Given the description of an element on the screen output the (x, y) to click on. 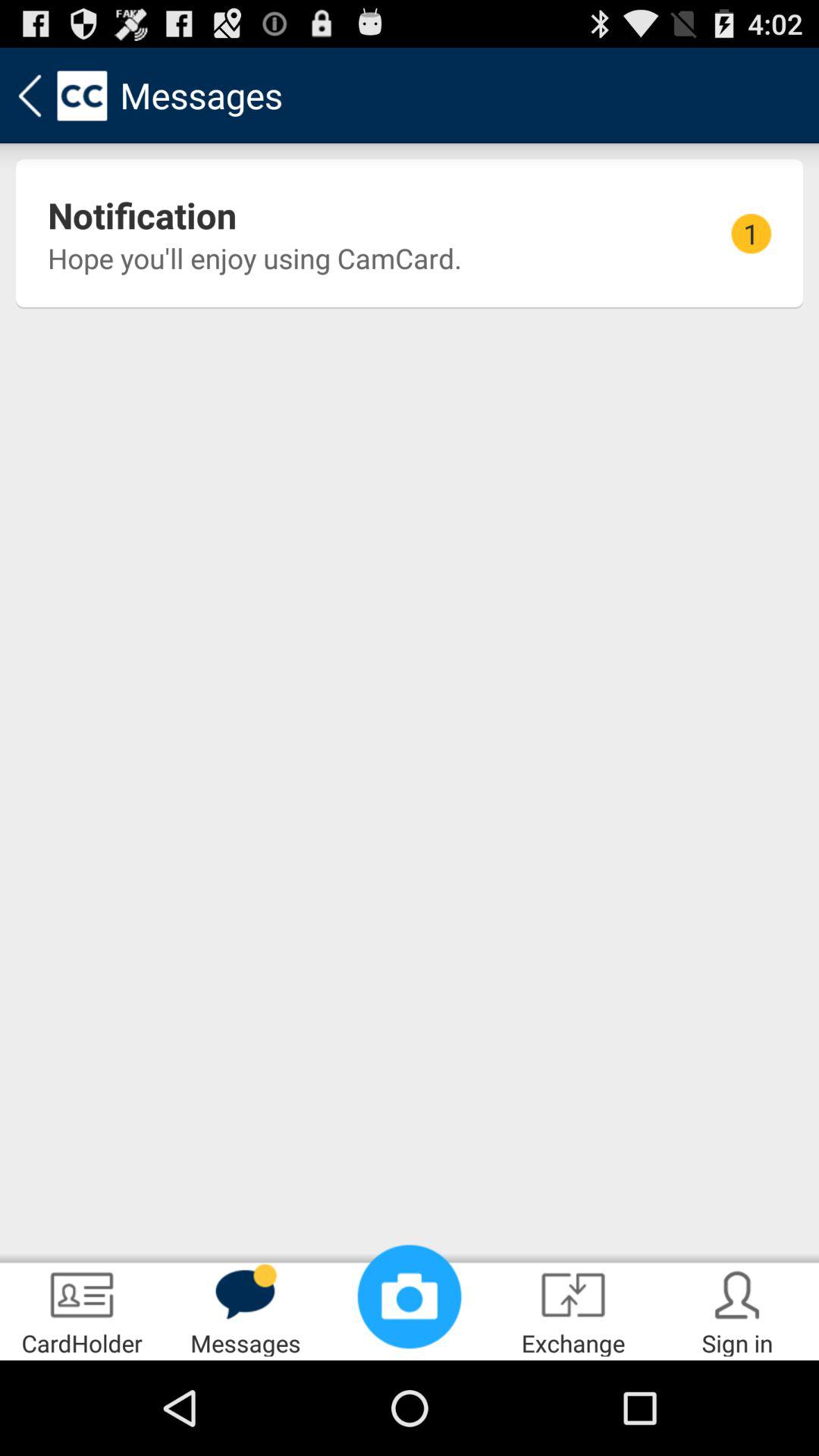
turn on item at the bottom (409, 1296)
